Given the description of an element on the screen output the (x, y) to click on. 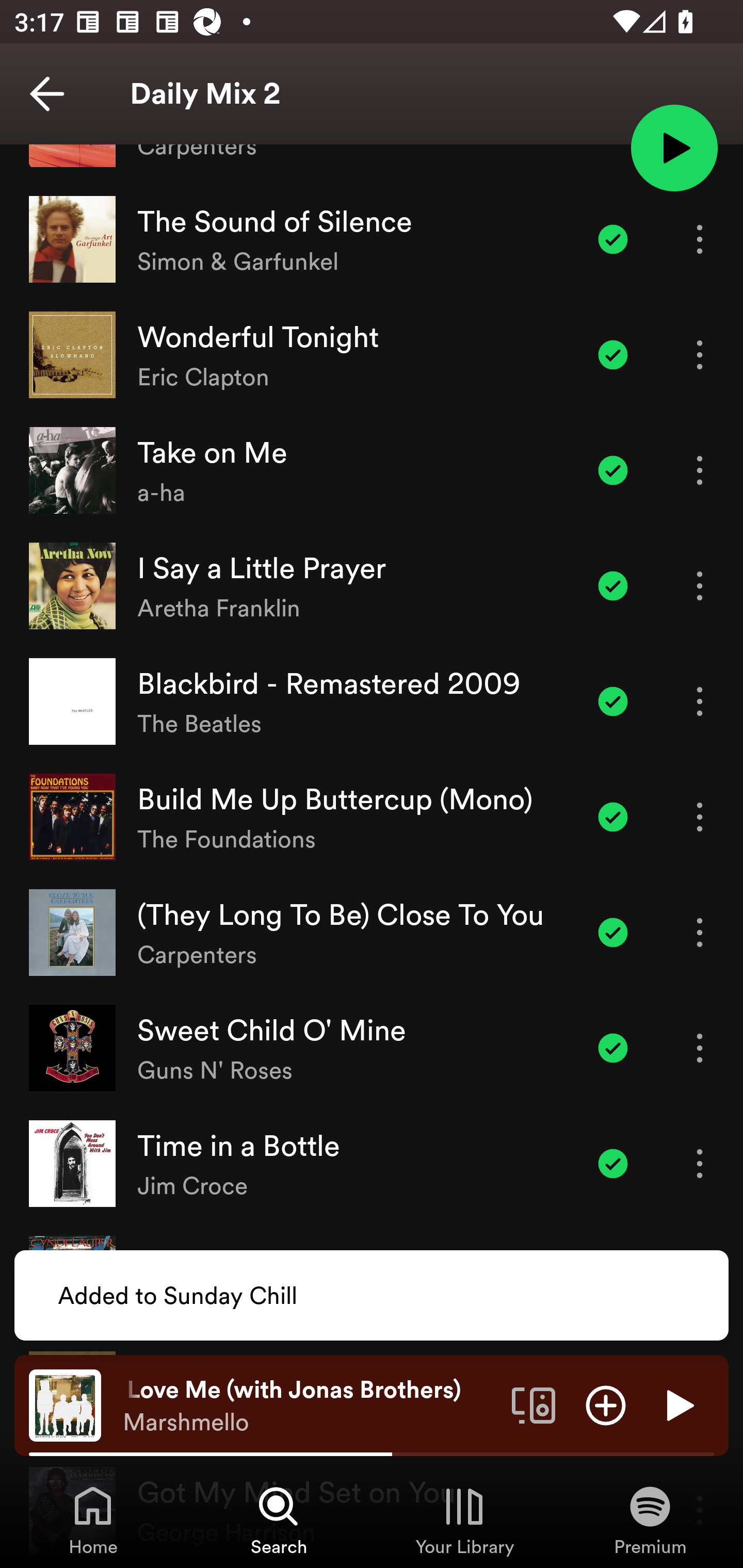
Back (46, 93)
Play playlist (674, 147)
Item added (612, 239)
More options for song The Sound of Silence (699, 239)
Item added (612, 355)
More options for song Wonderful Tonight (699, 355)
Item added (612, 470)
More options for song Take on Me (699, 470)
Item added (612, 585)
More options for song I Say a Little Prayer (699, 585)
Item added (612, 701)
More options for song Blackbird - Remastered 2009 (699, 701)
Item added (612, 816)
More options for song Build Me Up Buttercup (Mono) (699, 816)
